Given the description of an element on the screen output the (x, y) to click on. 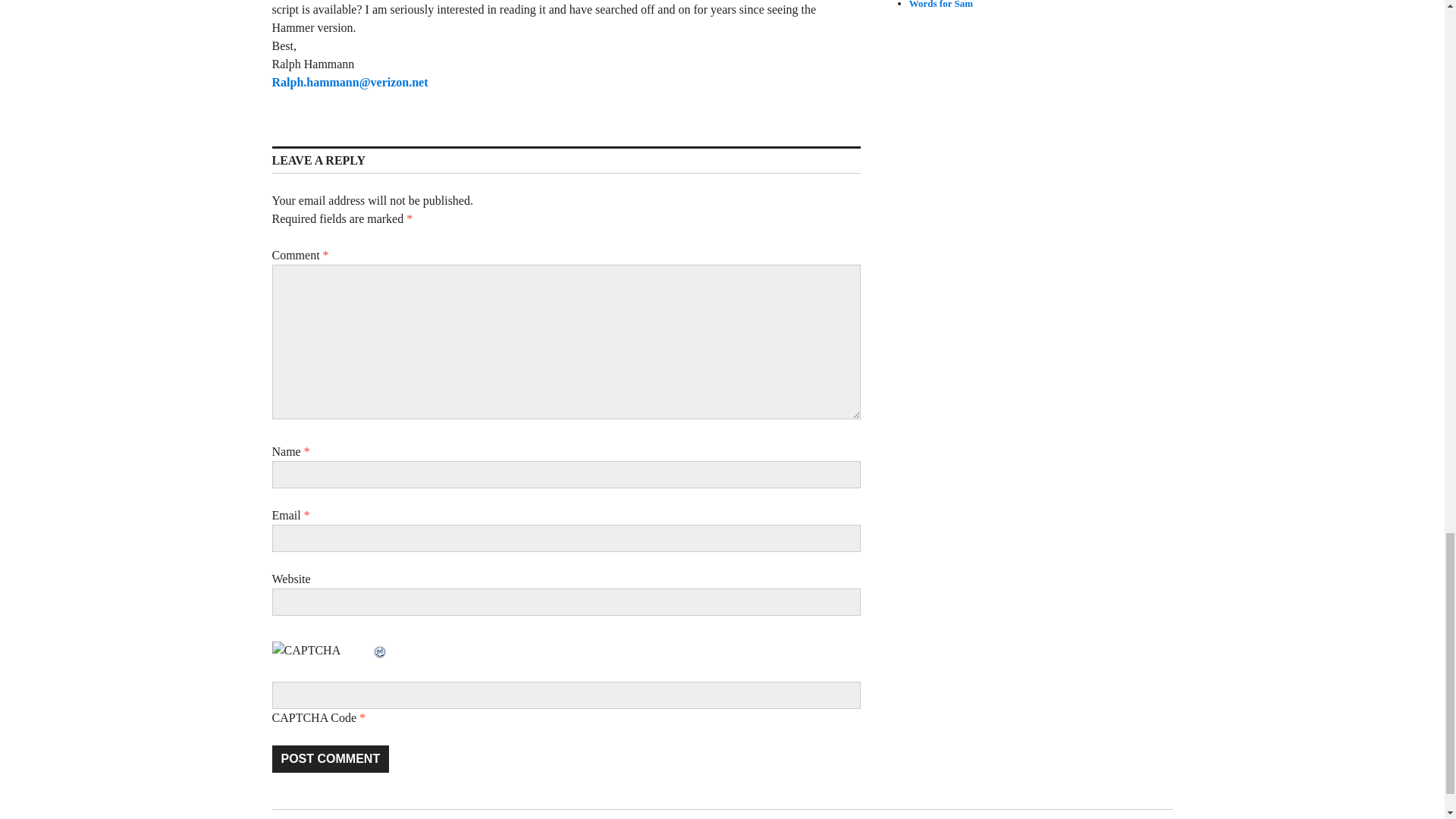
Refresh (379, 649)
CAPTCHA (320, 657)
Post Comment (329, 759)
